Given the description of an element on the screen output the (x, y) to click on. 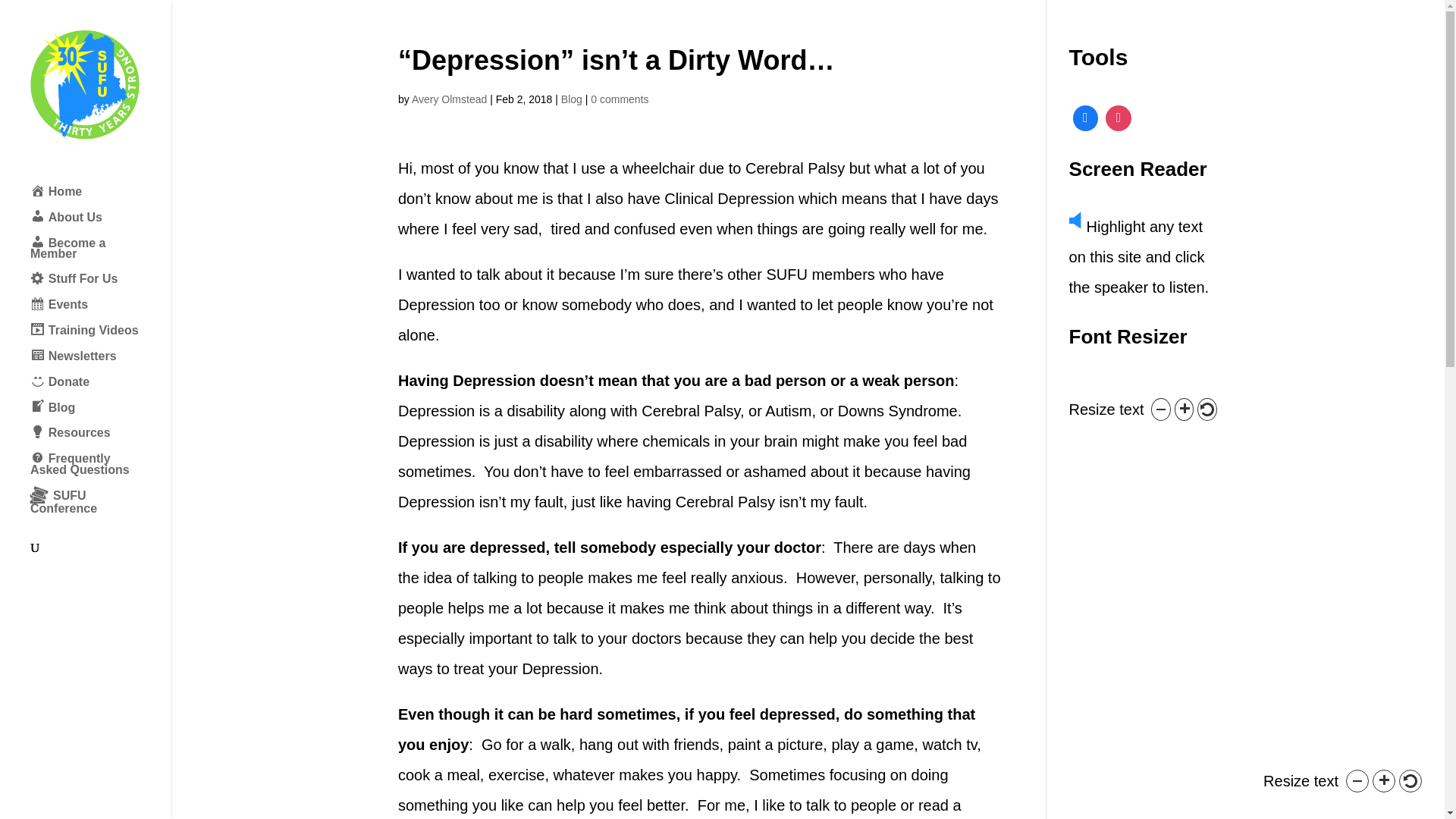
Reset text size (1410, 780)
Blog (571, 99)
Instagram (1118, 118)
Posts by Avery Olmstead (449, 99)
SUFU Conference (100, 508)
Events (100, 312)
Blog (100, 415)
0 comments (619, 99)
Facebook (1085, 118)
About Us (100, 225)
Newsletters (100, 363)
Avery Olmstead (449, 99)
Become a Member (100, 256)
Home (100, 199)
Resources (100, 440)
